Given the description of an element on the screen output the (x, y) to click on. 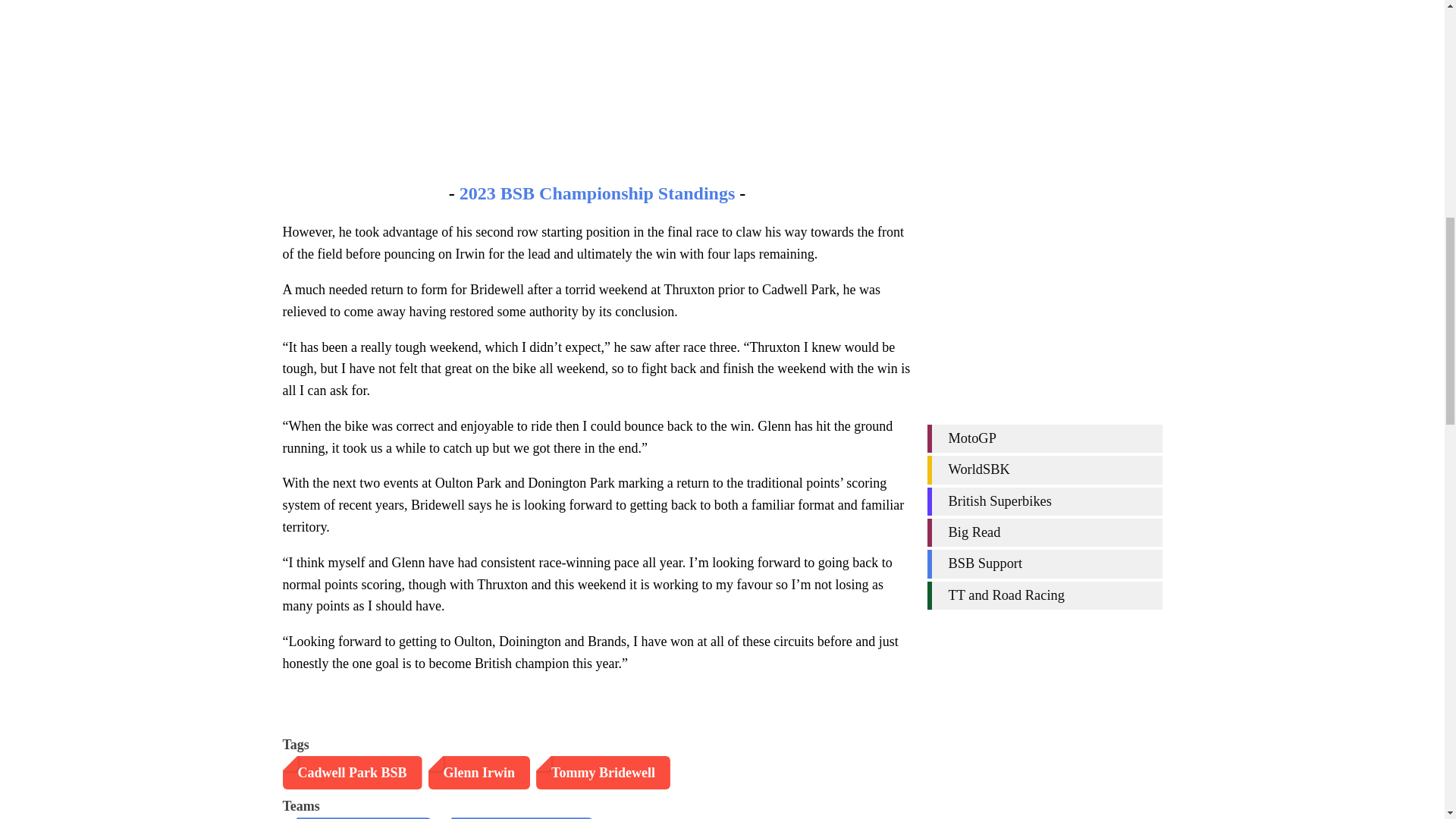
Big Read (1043, 274)
WorldSBK (1043, 211)
TT and Road Racing (1043, 336)
British Superbikes (1043, 243)
2023 BSB Championship Standings (597, 193)
Cadwell Park BSB (352, 772)
MotoGP (1043, 180)
BSB Support (1043, 305)
Glenn Irwin (479, 772)
Tommy Bridewell (602, 772)
